Given the description of an element on the screen output the (x, y) to click on. 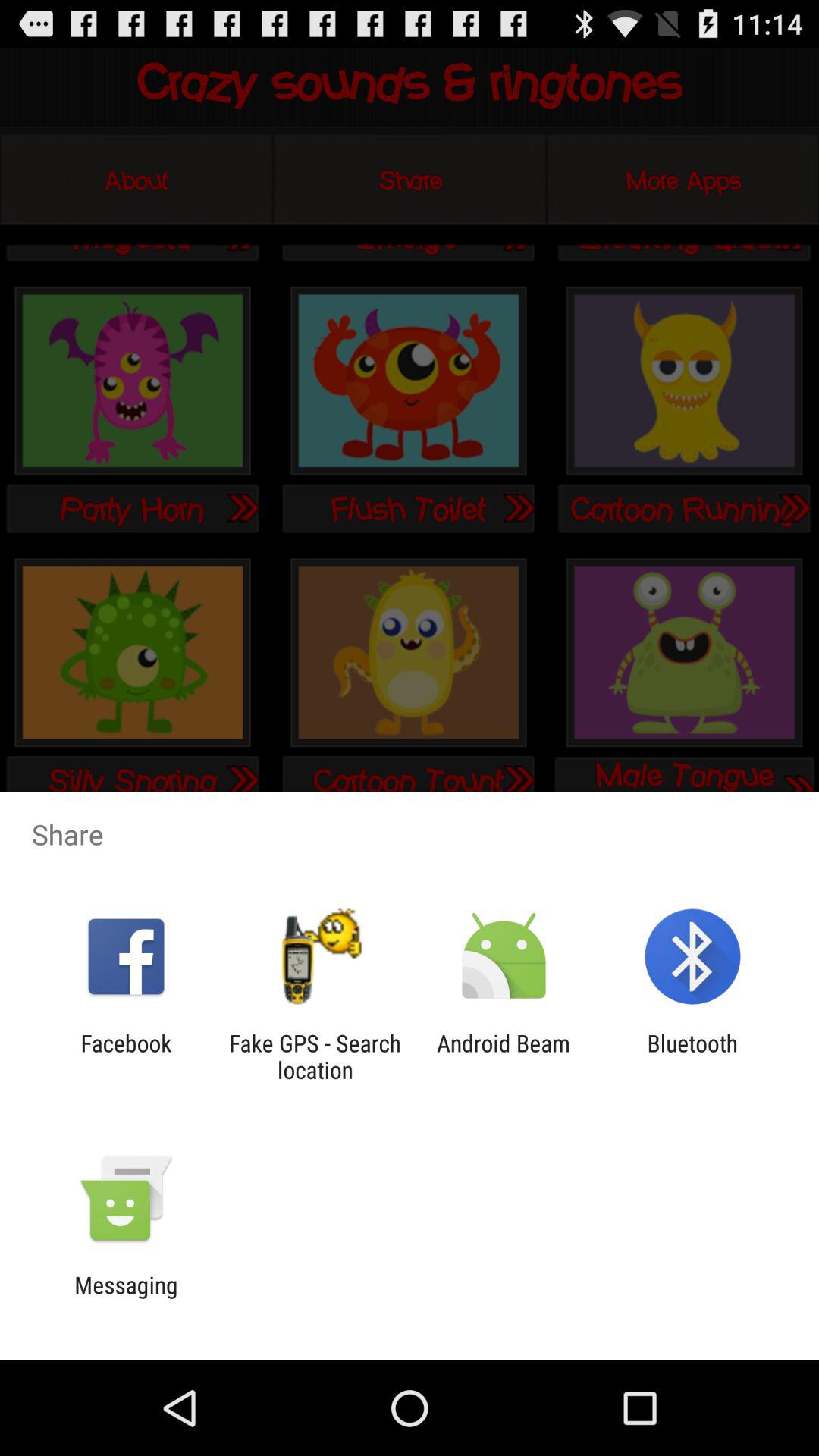
launch messaging (126, 1298)
